Given the description of an element on the screen output the (x, y) to click on. 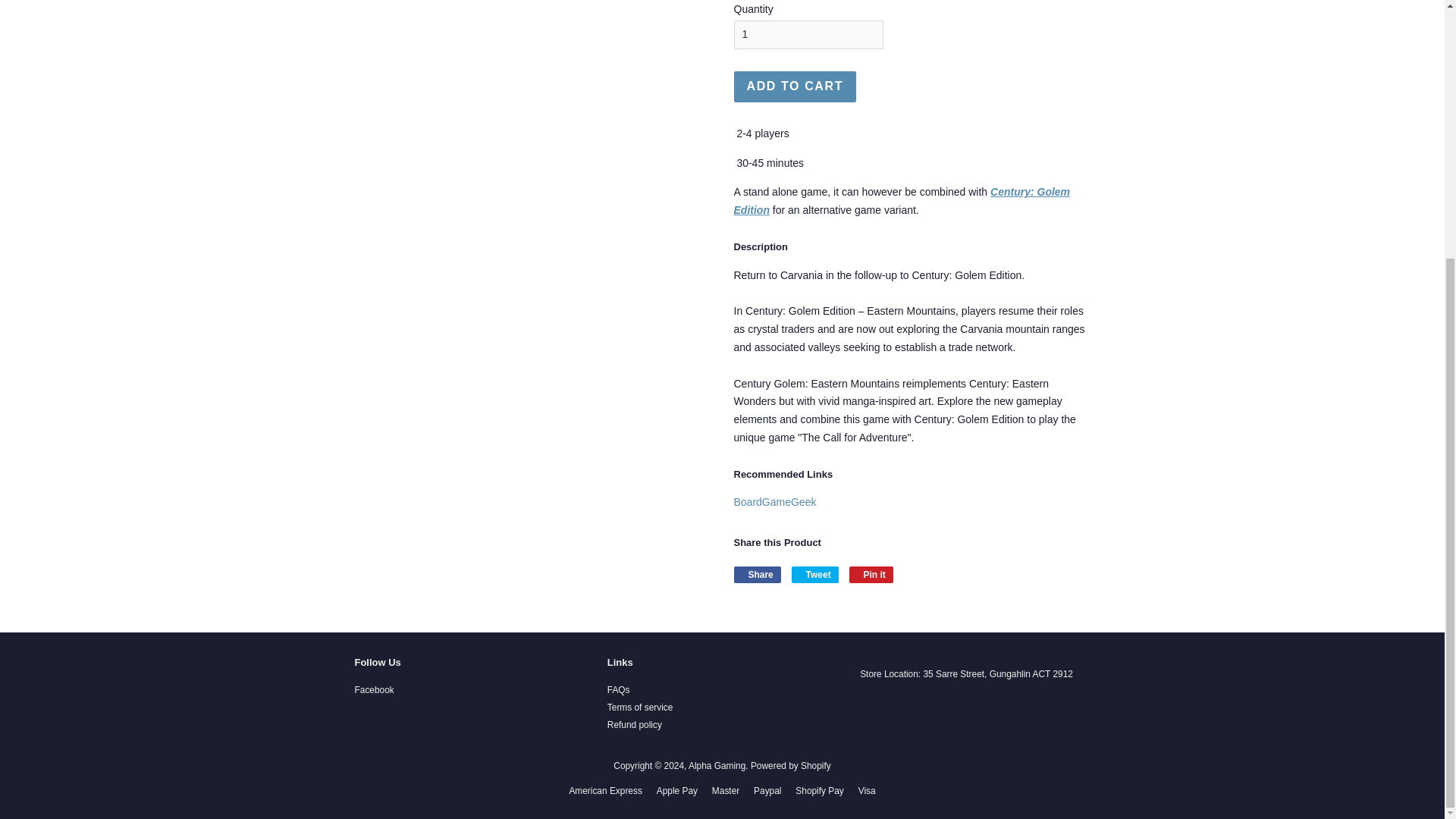
Alpha Gaming - Century: Golem Edition (901, 200)
Share on Facebook (756, 574)
Tweet on Twitter (815, 574)
BGG - Century: Golem Edition - Eastern Mountains (774, 501)
1 (808, 34)
Pin on Pinterest (870, 574)
Alpha Gaming on Facebook (374, 689)
